Given the description of an element on the screen output the (x, y) to click on. 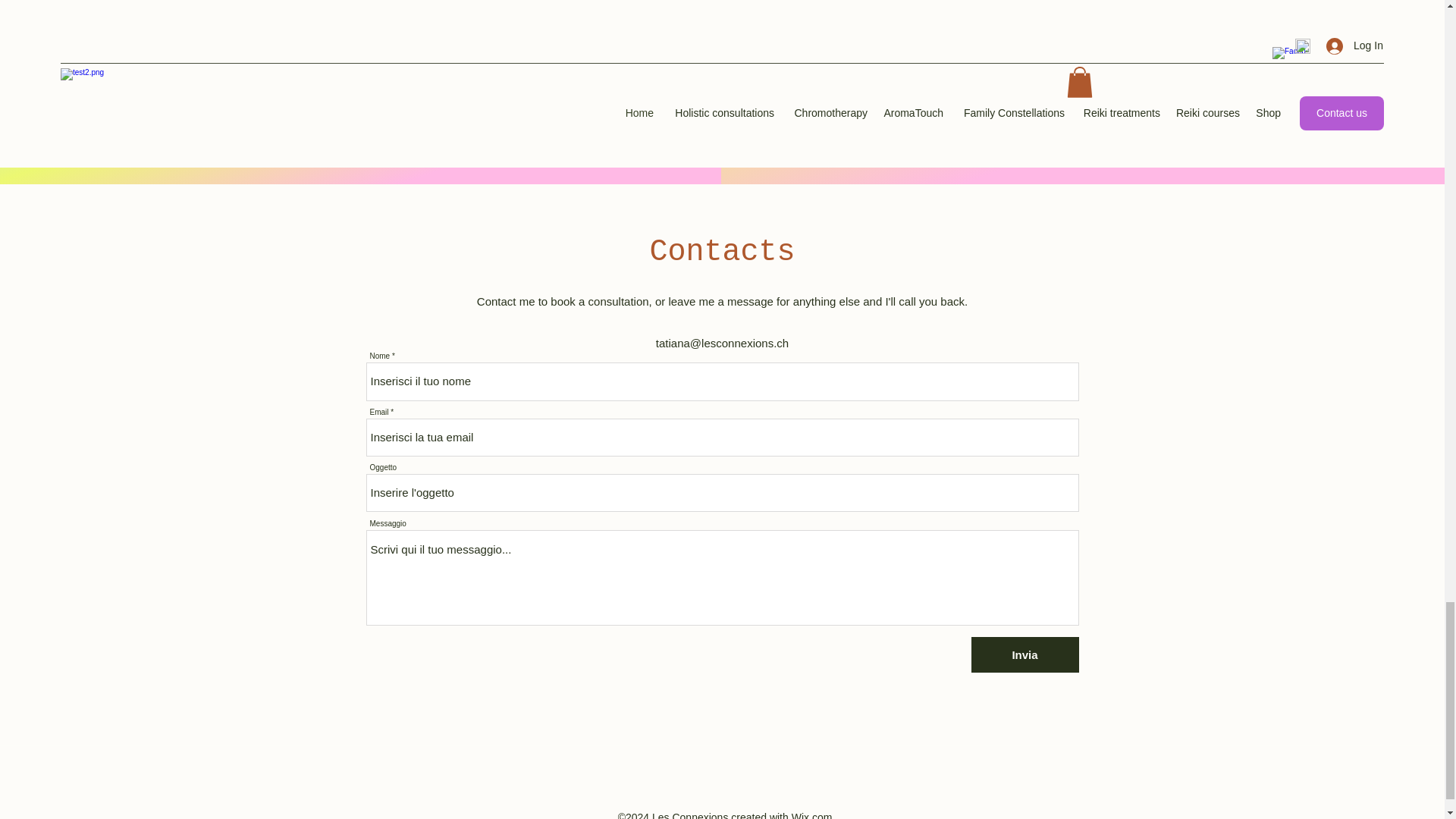
Invia (1024, 654)
